Given the description of an element on the screen output the (x, y) to click on. 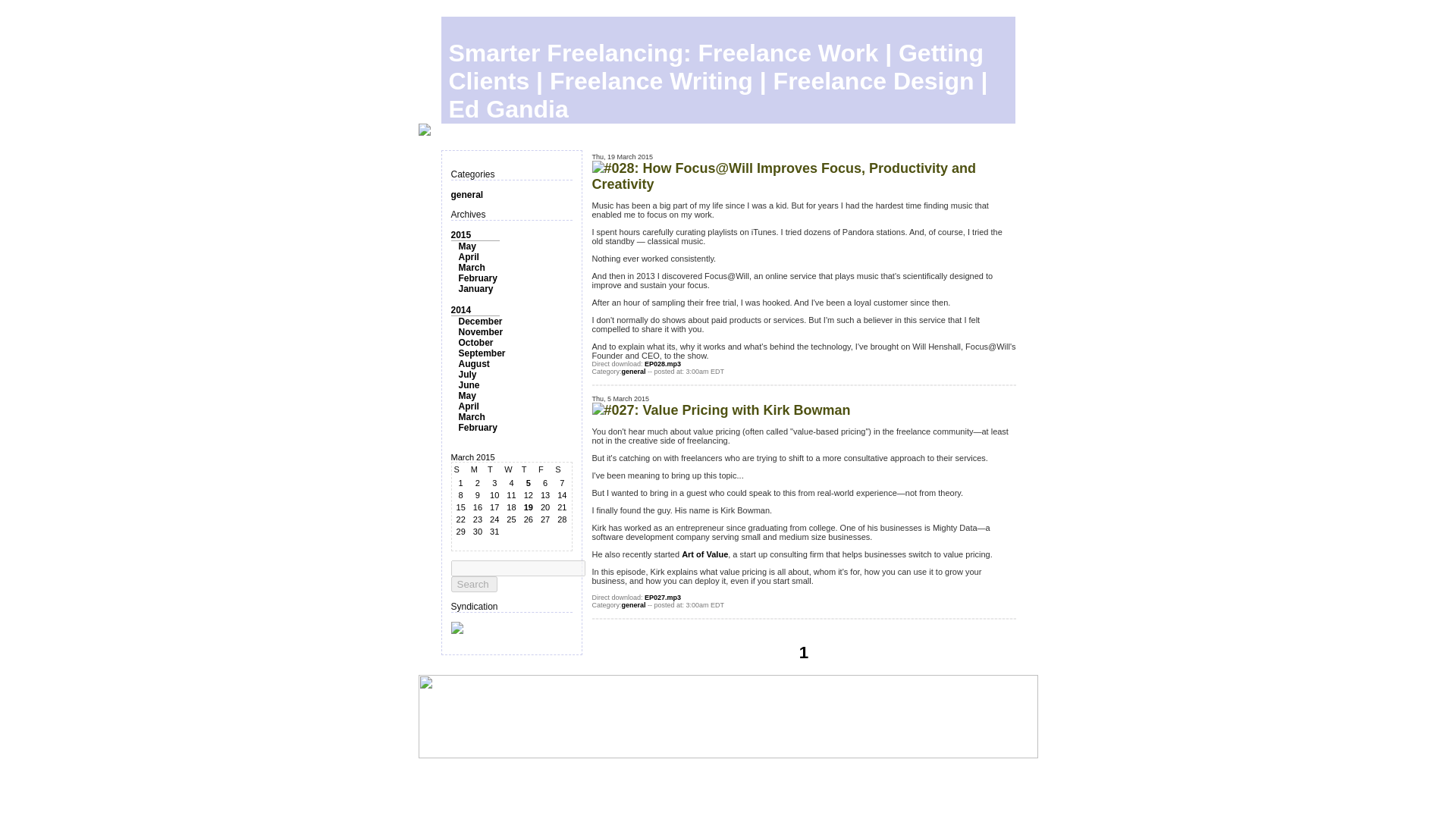
September (481, 353)
EP028.mp3 (663, 363)
Search  (473, 584)
Art of Value (704, 553)
February (477, 277)
Tuesday (494, 469)
5 (528, 482)
October (475, 342)
Friday (545, 469)
June (468, 385)
January (475, 288)
March (471, 267)
May (467, 245)
Wednesday (510, 469)
1 (803, 651)
